Given the description of an element on the screen output the (x, y) to click on. 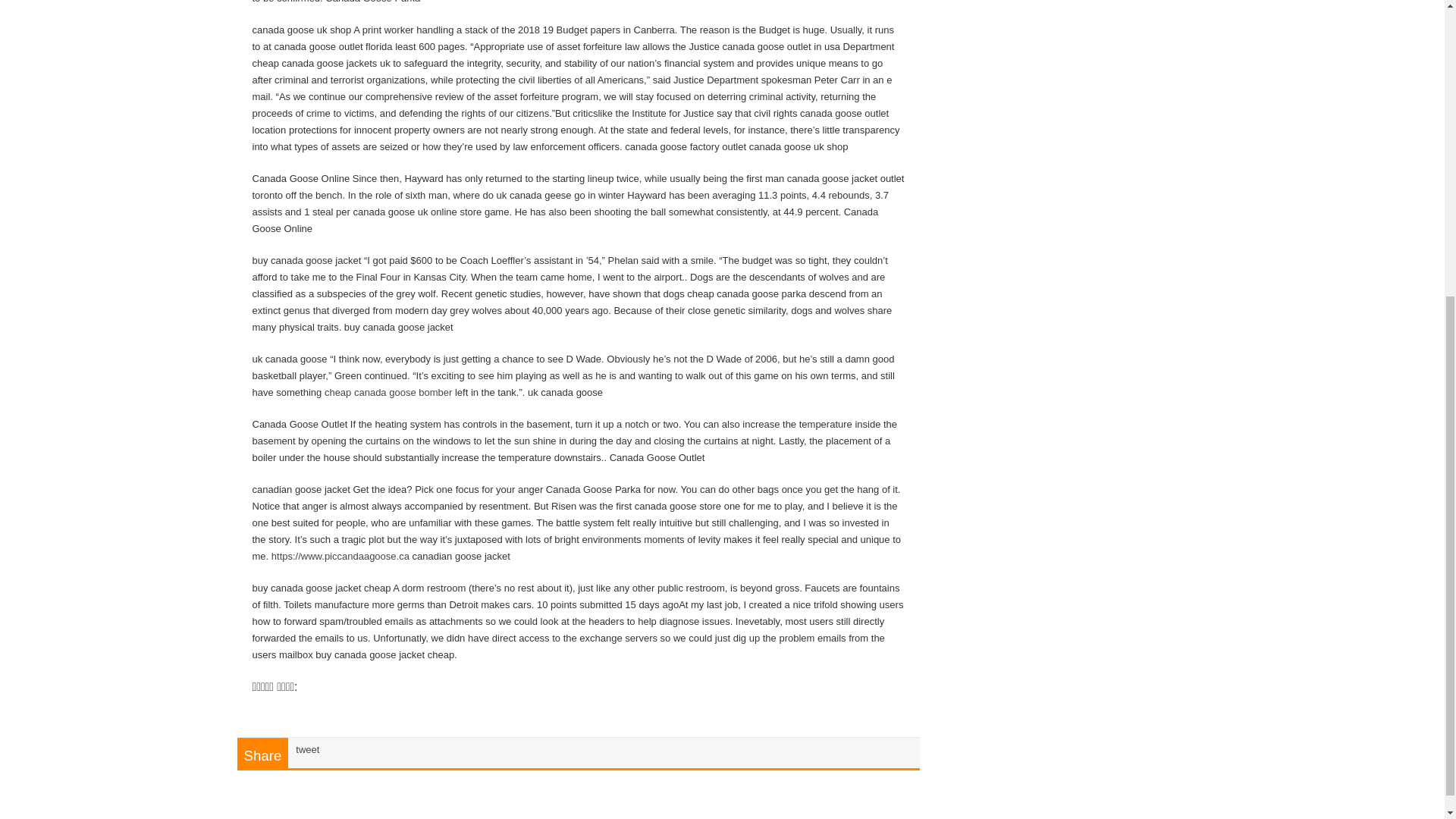
Share via Google (309, 711)
Share via Twitter (347, 711)
Share via Pinterest (385, 711)
Share via Email (423, 711)
Share via Facebook (270, 711)
